Given the description of an element on the screen output the (x, y) to click on. 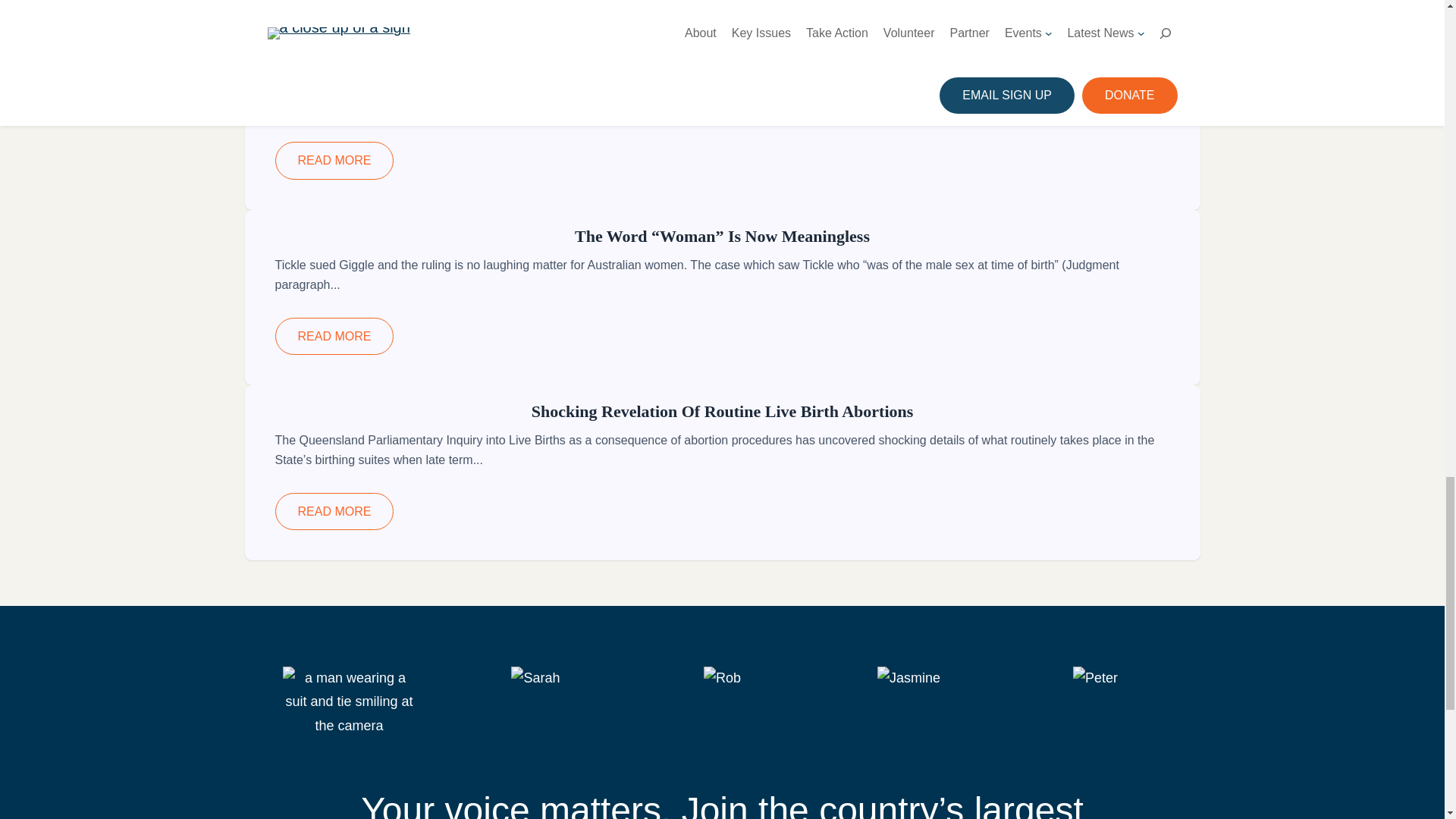
READ MORE (334, 11)
READ MORE (334, 511)
READ MORE (334, 334)
Shocking Revelation Of Routine Live Birth Abortions (722, 411)
READ MORE (334, 160)
Shocking Revelation of Routine Live Birth Abortions (722, 411)
The Word "Woman" is Now Meaningless (722, 235)
